Given the description of an element on the screen output the (x, y) to click on. 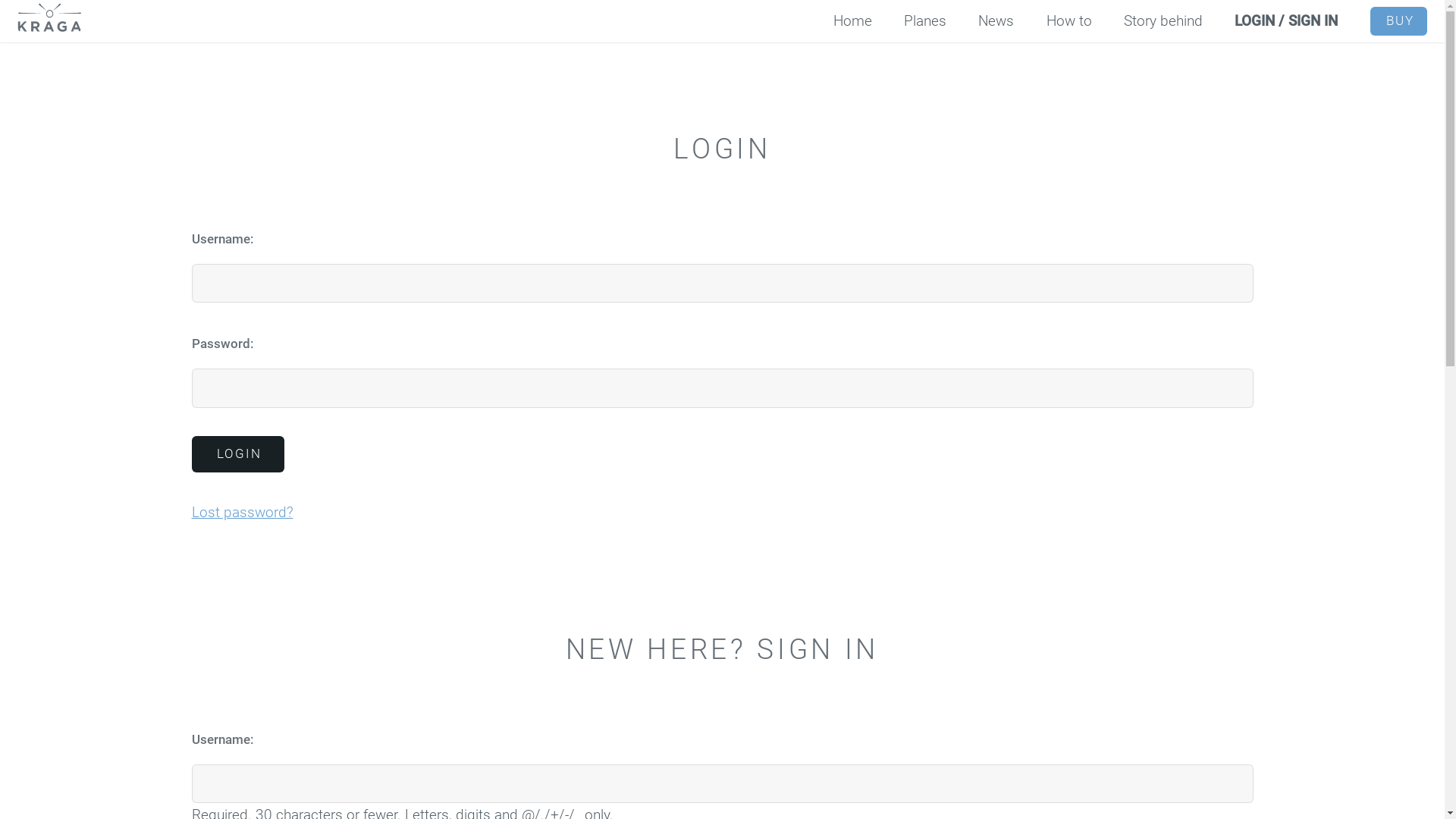
BUY Element type: text (1398, 20)
Planes Element type: text (924, 21)
How to Element type: text (1069, 21)
LOGIN / SIGN IN Element type: text (1285, 21)
login Element type: text (237, 454)
Story behind Element type: text (1162, 21)
Home Element type: text (852, 21)
News Element type: text (995, 21)
Lost password? Element type: text (241, 512)
